Given the description of an element on the screen output the (x, y) to click on. 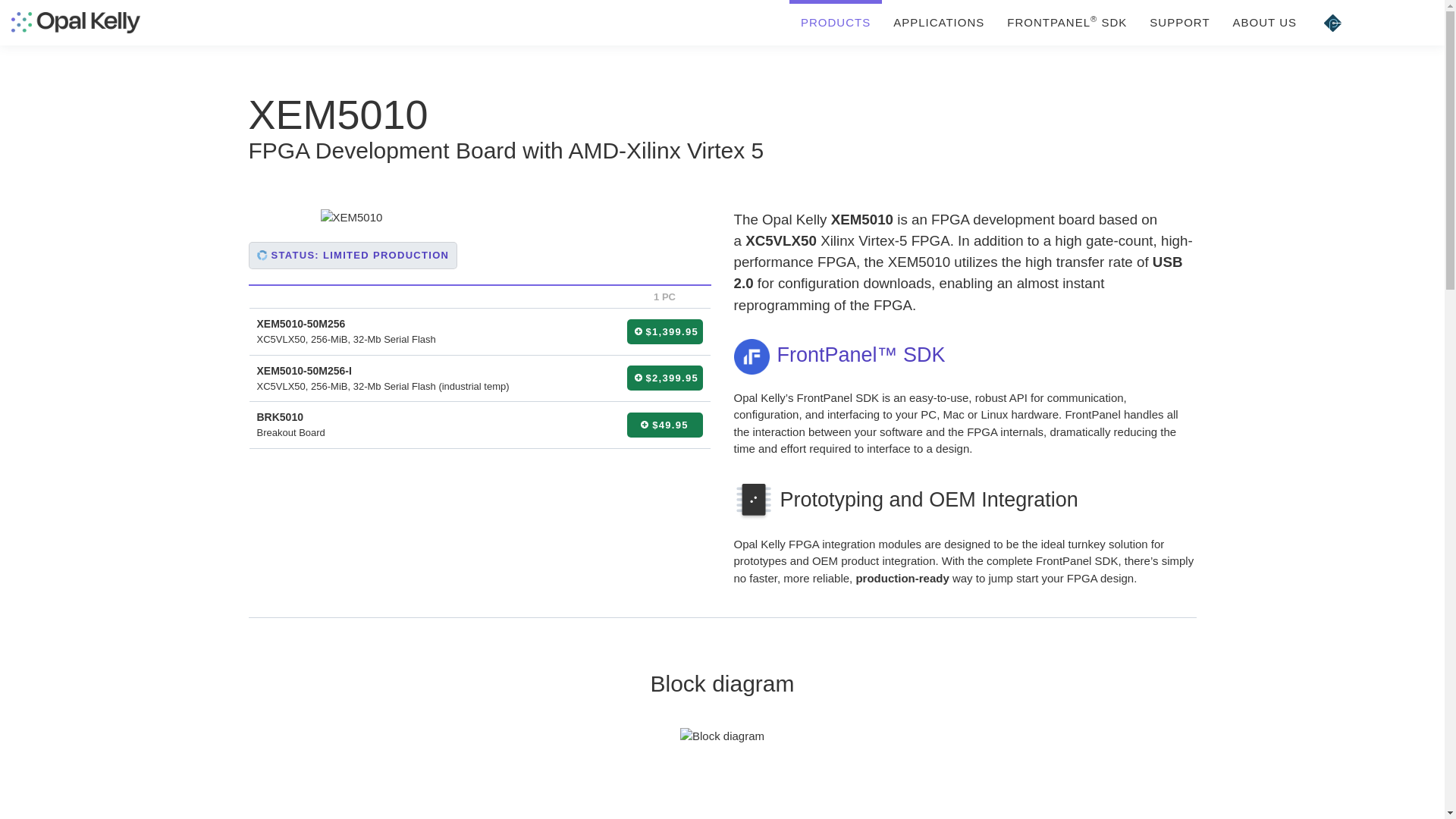
ABOUT US (1264, 22)
PRODUCTS (835, 22)
SUPPORT (1179, 22)
APPLICATIONS (938, 22)
Pins (1331, 22)
